Given the description of an element on the screen output the (x, y) to click on. 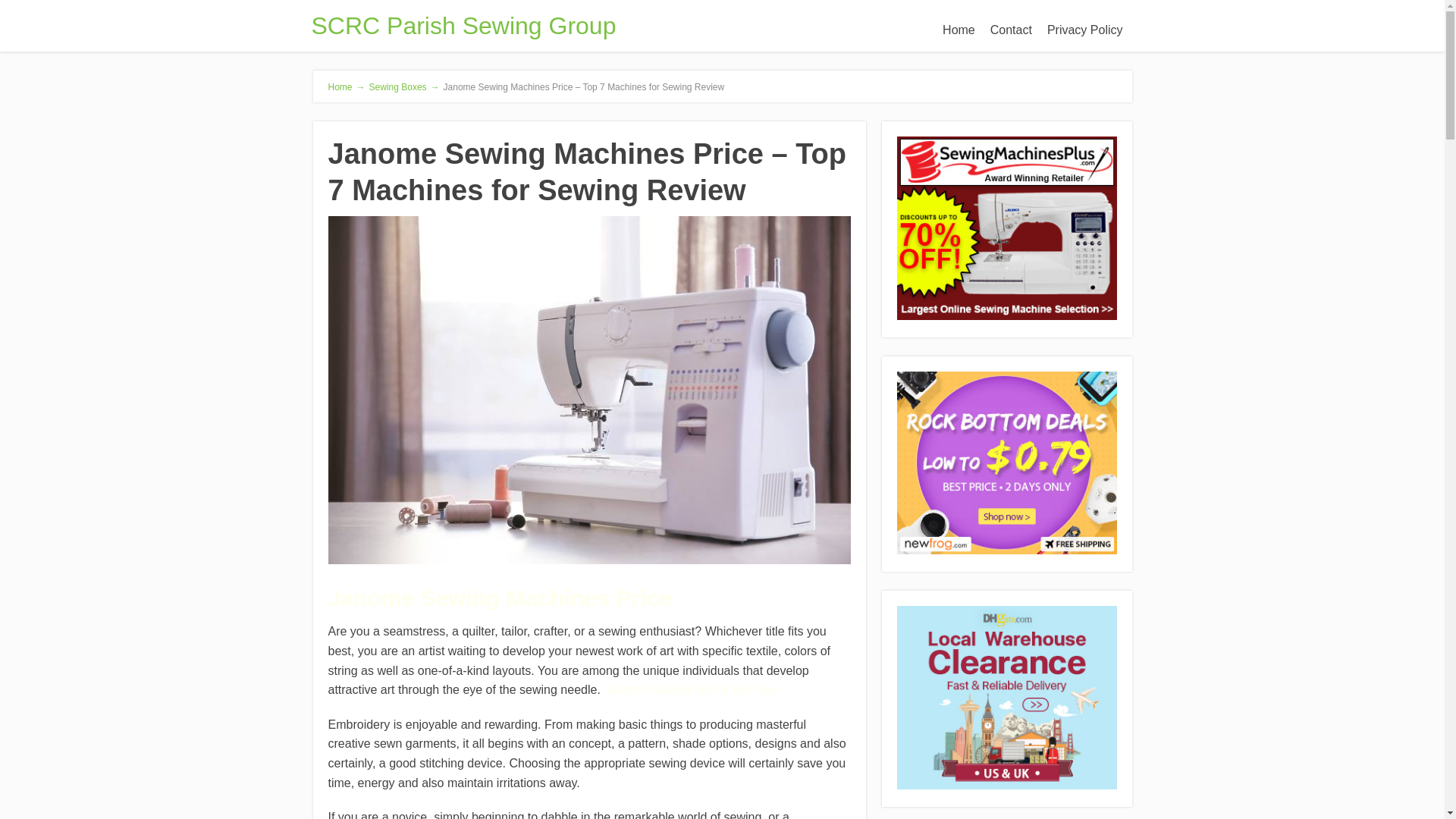
Home (958, 30)
Privacy Policy (1085, 30)
SCRC Parish Sewing Group (463, 25)
Contact (1010, 30)
